Given the description of an element on the screen output the (x, y) to click on. 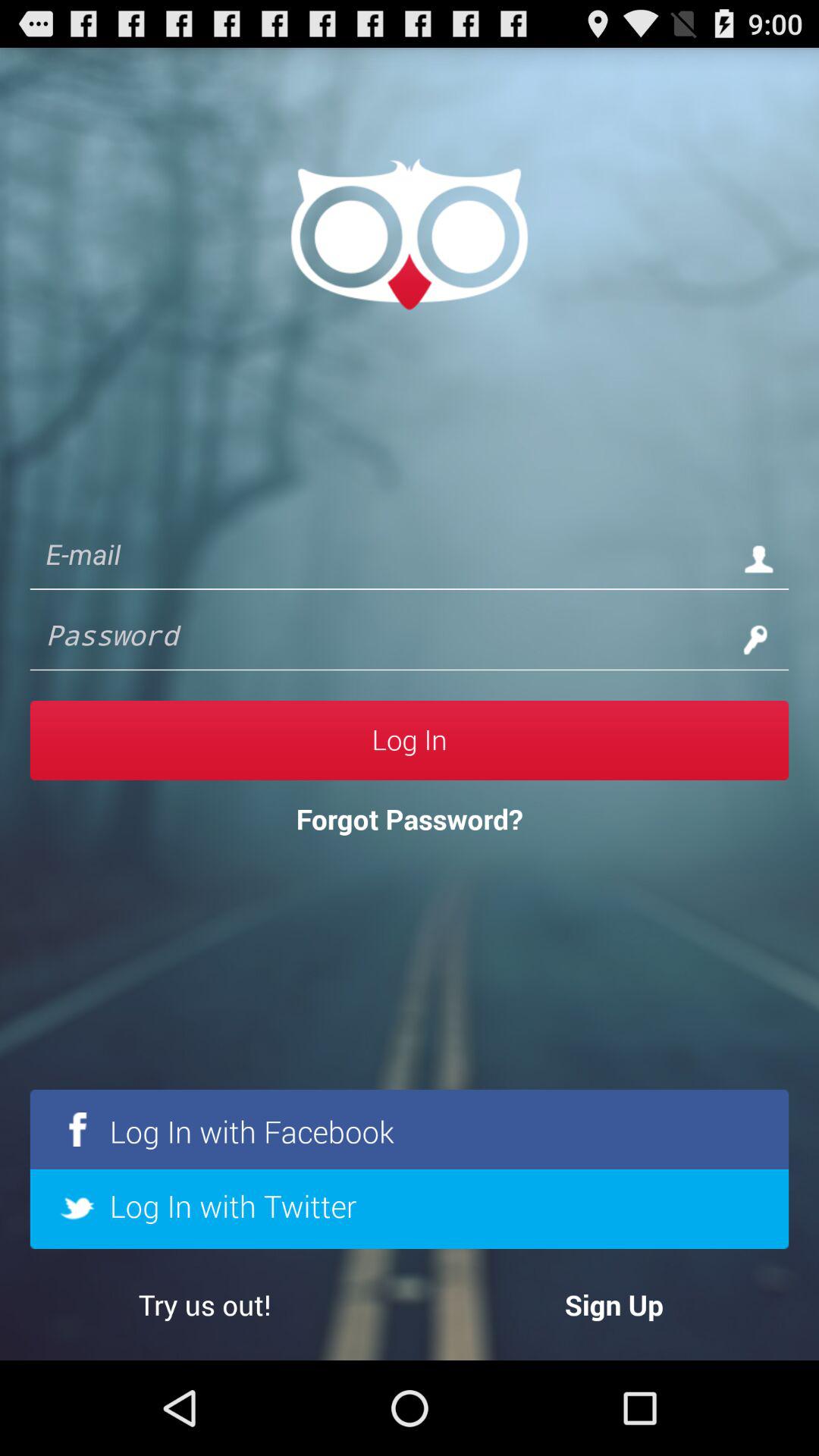
go to log in with facebook (409, 1129)
